Given the description of an element on the screen output the (x, y) to click on. 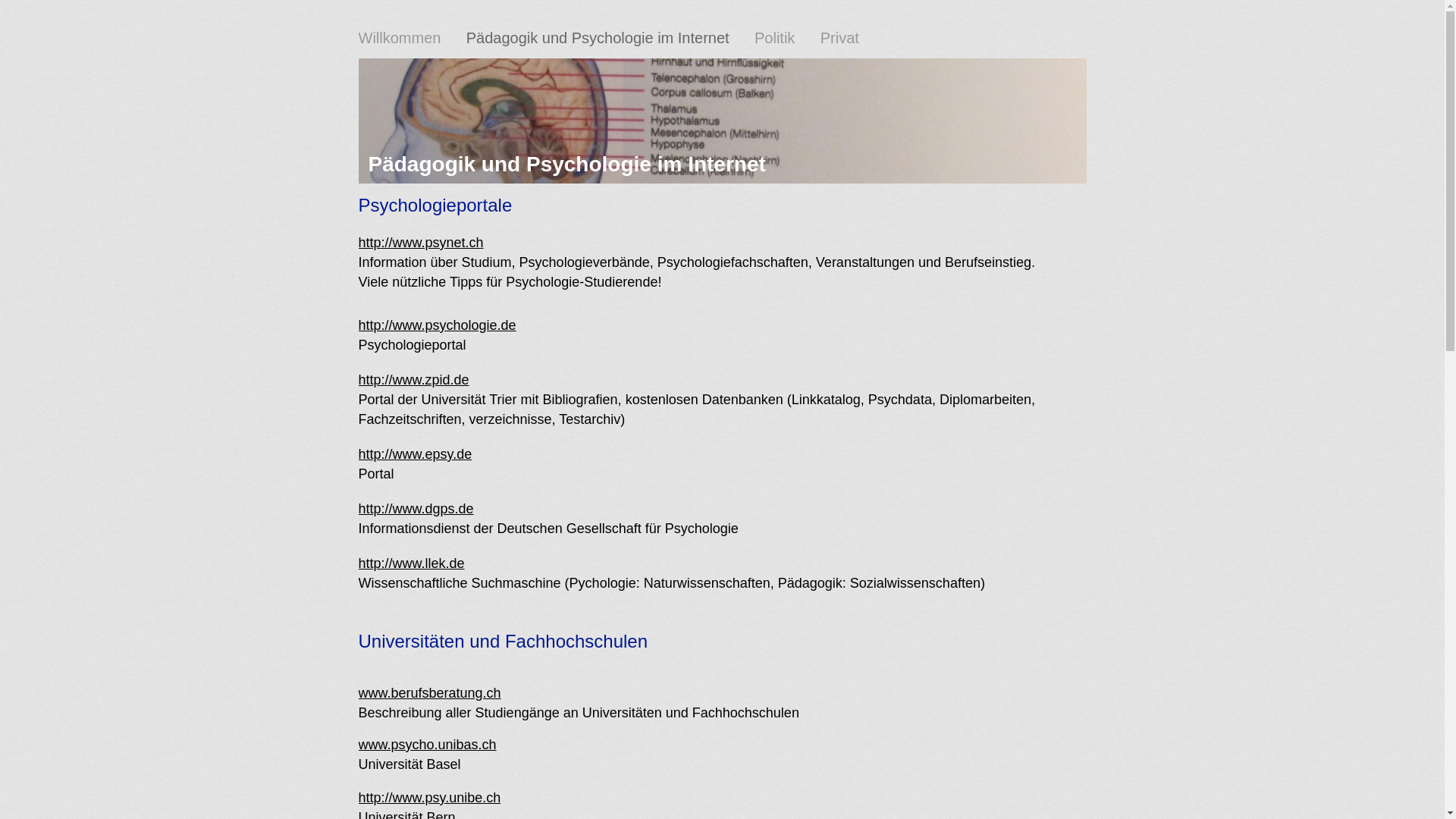
Willkommen Element type: text (398, 37)
http://www.llek.de Element type: text (410, 563)
http://www.epsy.de Element type: text (414, 453)
http://www.psynet.ch Element type: text (420, 242)
www.psycho.unibas.ch Element type: text (426, 744)
www.berufsberatung.ch Element type: text (428, 692)
Politik       Element type: text (787, 37)
http://www.psychologie.de Element type: text (436, 324)
http://www.dgps.de Element type: text (415, 508)
http://www.psy.unibe.ch Element type: text (428, 797)
Privat Element type: text (839, 37)
http://www.zpid.de Element type: text (412, 379)
